Given the description of an element on the screen output the (x, y) to click on. 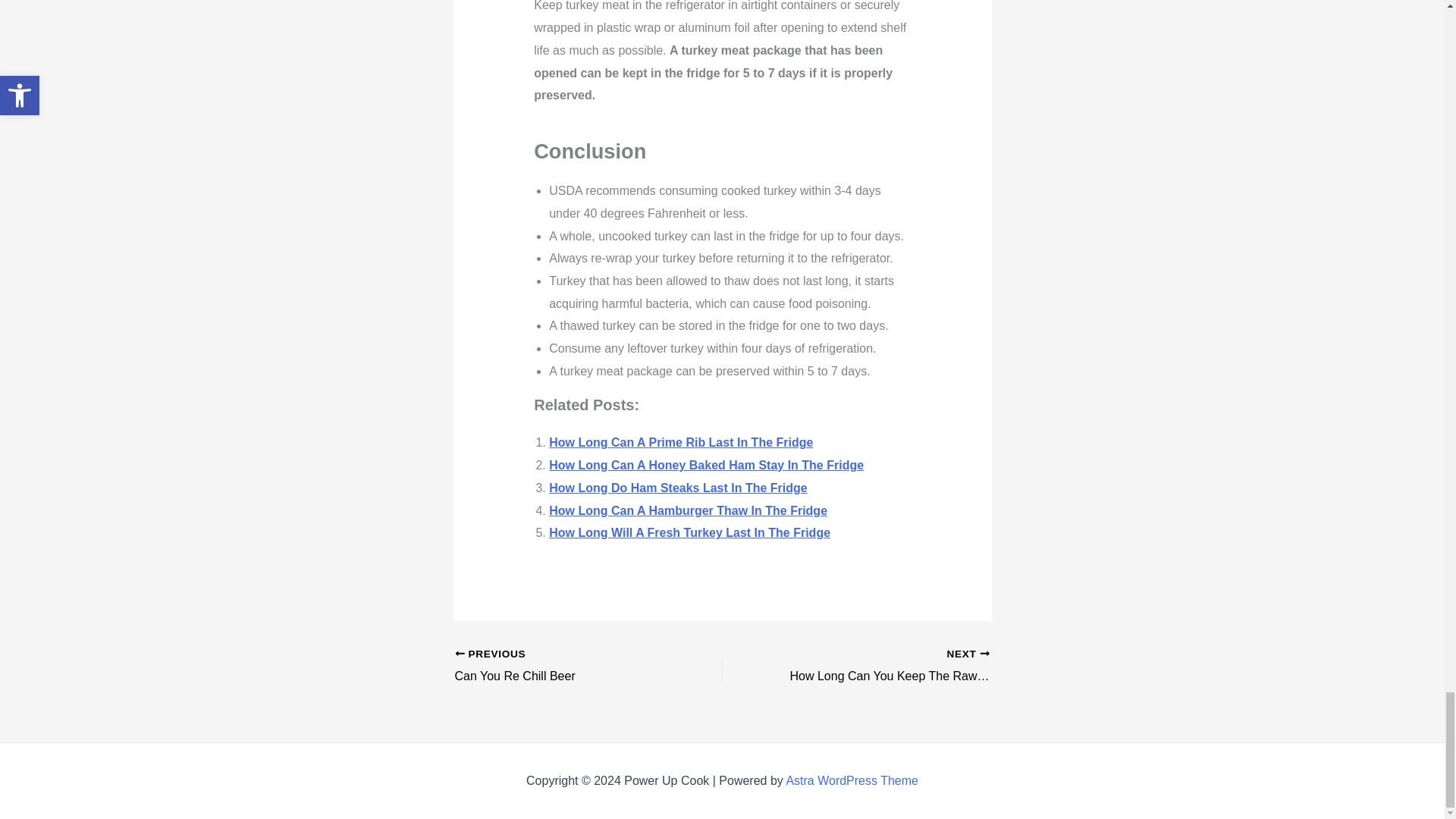
How Long Can A Prime Rib Last In The Fridge (680, 441)
How Long Do Ham Steaks Last In The Fridge (677, 487)
How Long Can A Honey Baked Ham Stay In The Fridge (705, 464)
